Given the description of an element on the screen output the (x, y) to click on. 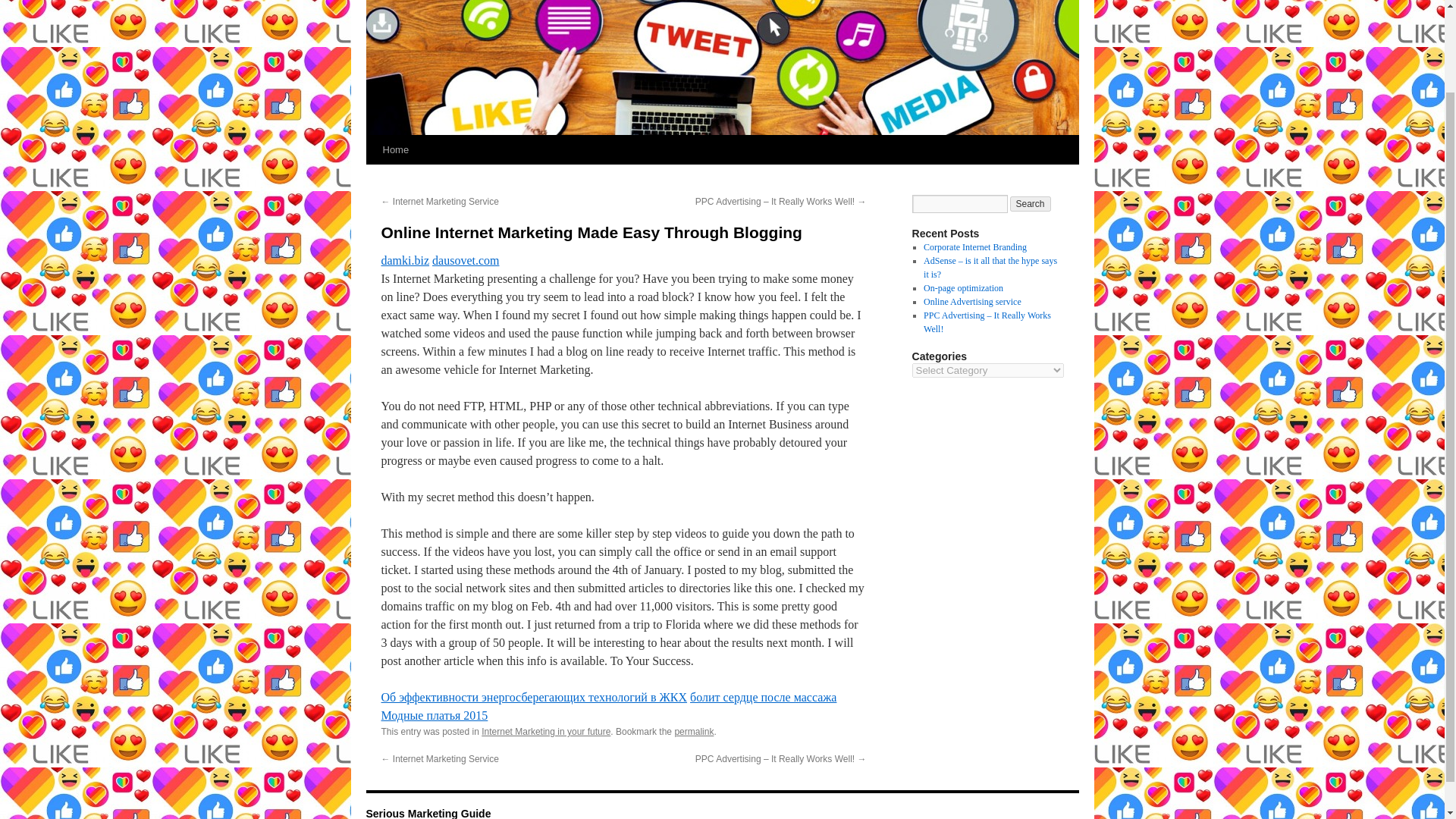
Online Advertising service (972, 301)
dausovet.com (465, 259)
Internet Marketing in your future (545, 731)
damki.biz (404, 259)
Search (1030, 203)
On-page optimization (963, 287)
Home (395, 149)
Corporate Internet Branding (974, 246)
permalink (693, 731)
